Given the description of an element on the screen output the (x, y) to click on. 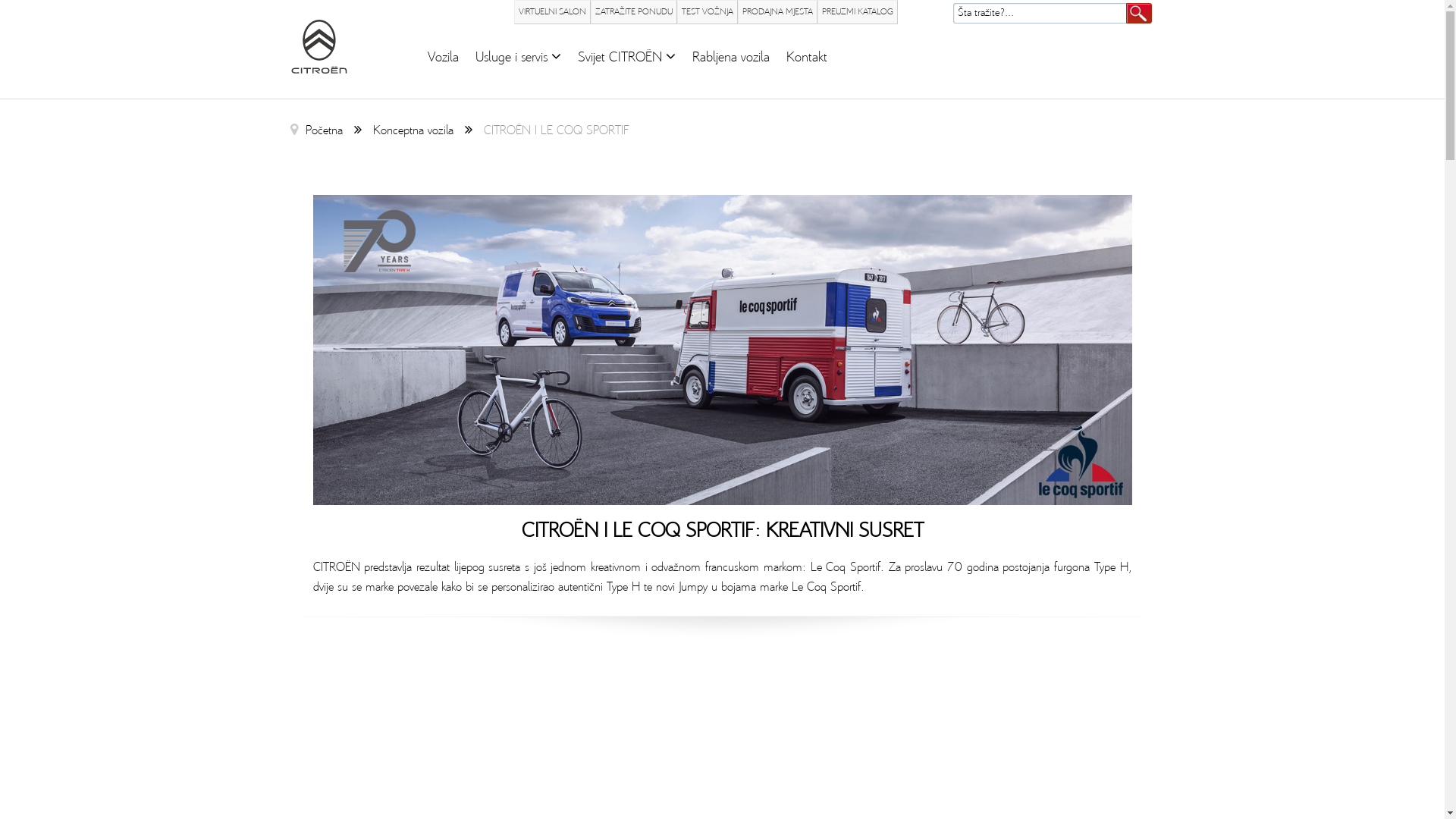
Konceptna vozila Element type: text (413, 130)
Rabljena vozila Element type: text (730, 57)
Vozila Element type: text (443, 57)
PREUZMI KATALOG Element type: text (857, 12)
Usluge i servis Element type: text (517, 57)
VIRTUELNI SALON Element type: text (552, 12)
PRODAJNA MJESTA Element type: text (776, 12)
Kontakt Element type: text (806, 57)
